Given the description of an element on the screen output the (x, y) to click on. 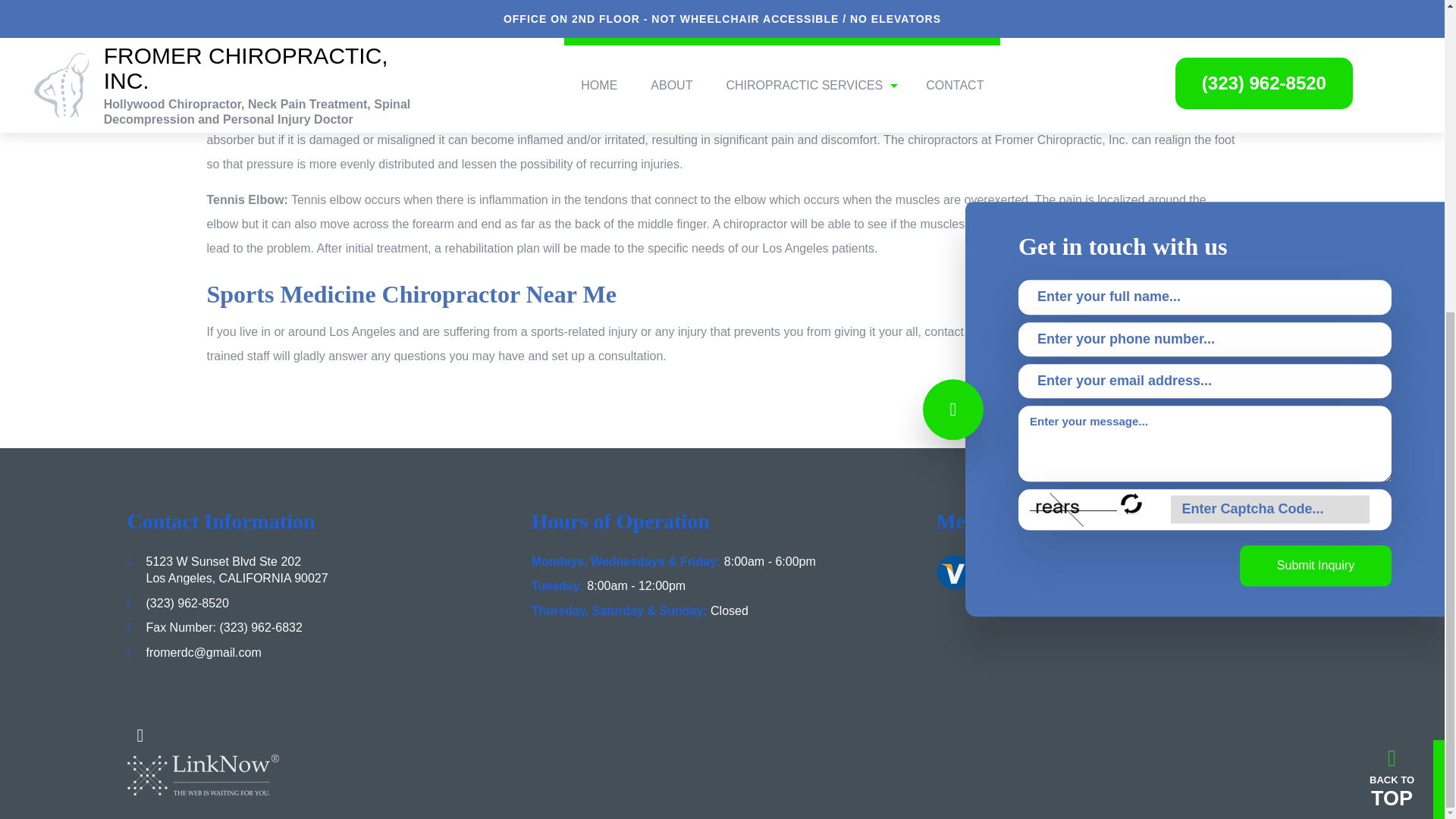
Refresh Captcha (1131, 8)
